Given the description of an element on the screen output the (x, y) to click on. 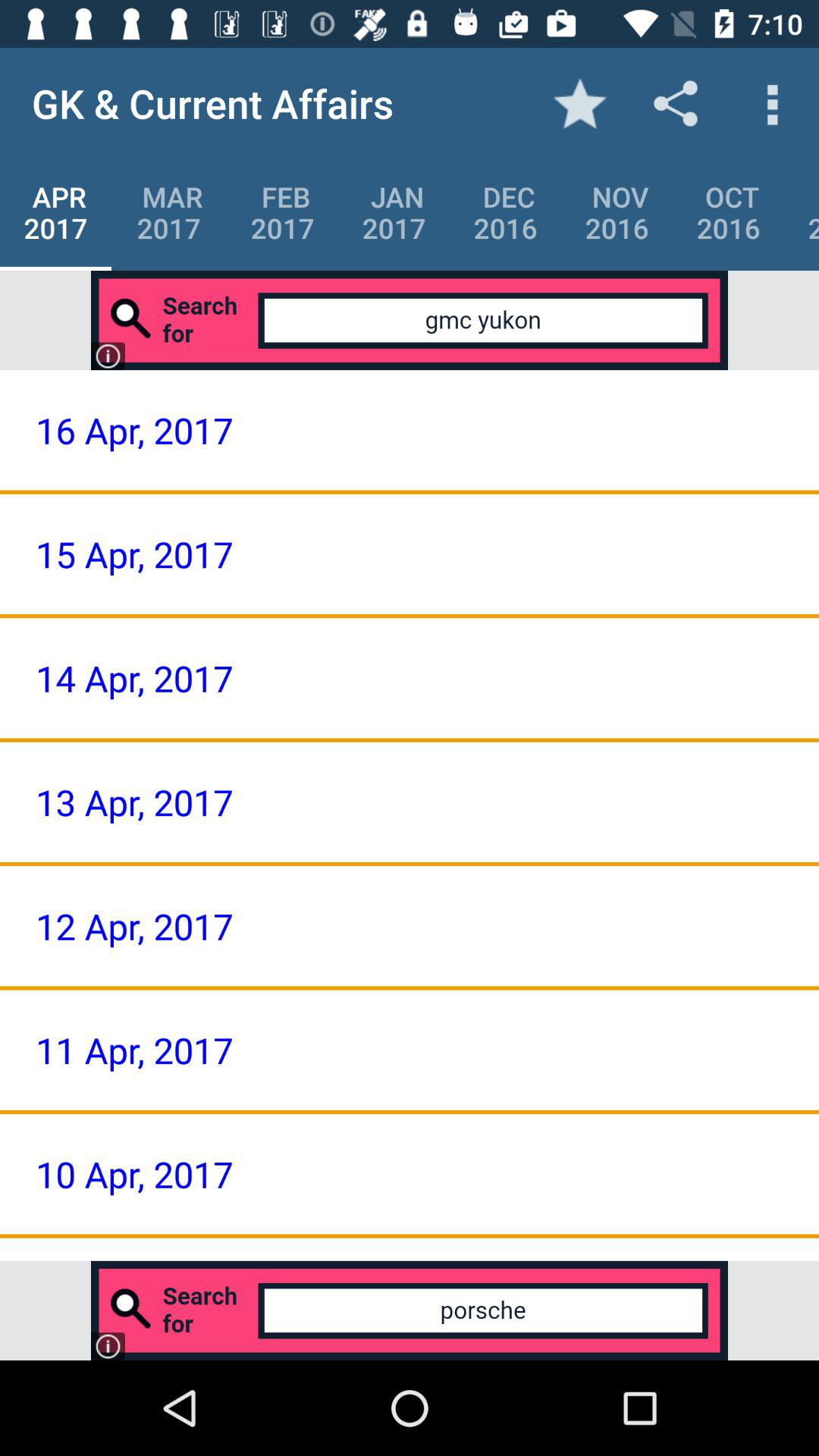
search for (409, 320)
